Given the description of an element on the screen output the (x, y) to click on. 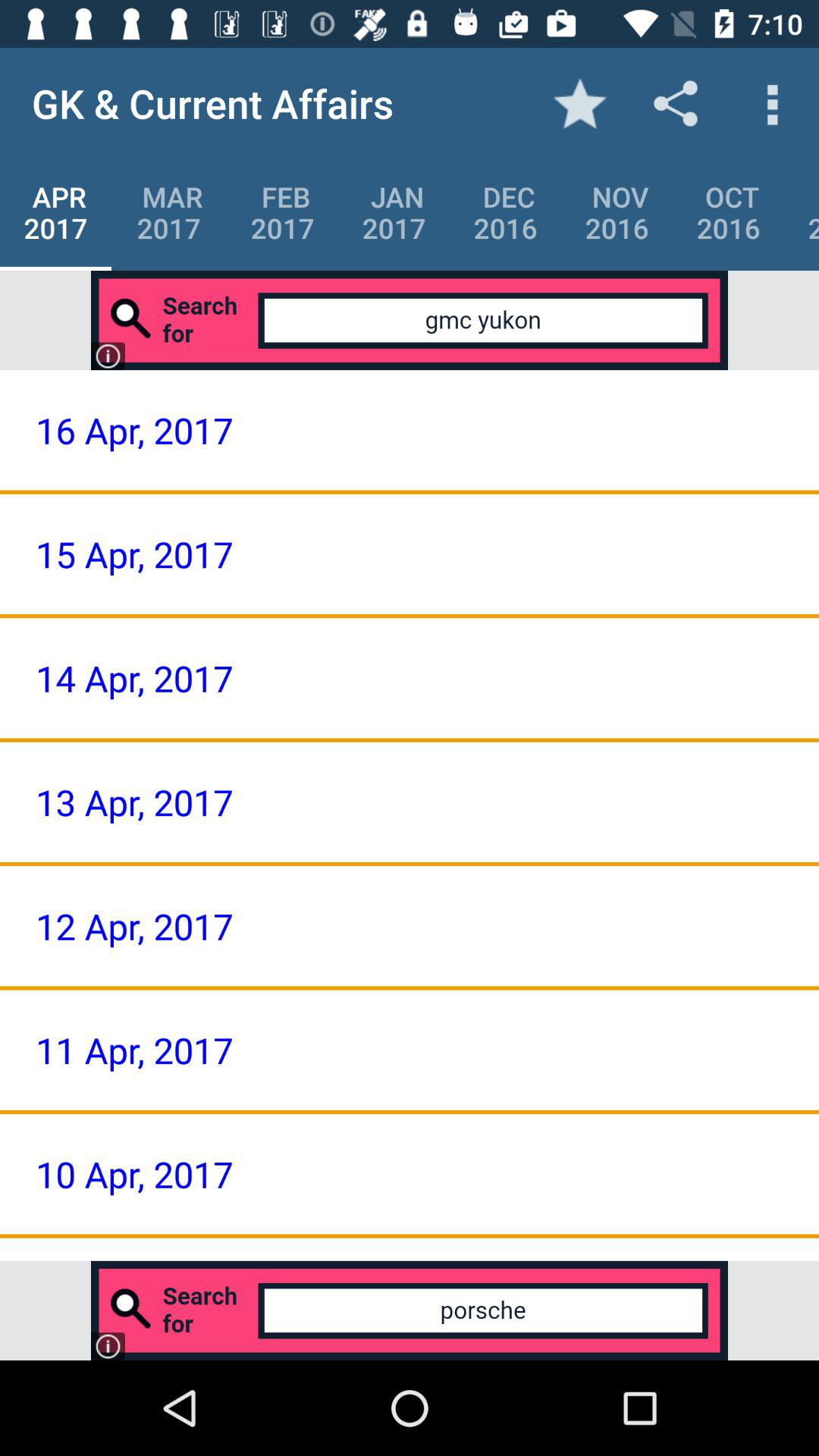
search for (409, 320)
